Given the description of an element on the screen output the (x, y) to click on. 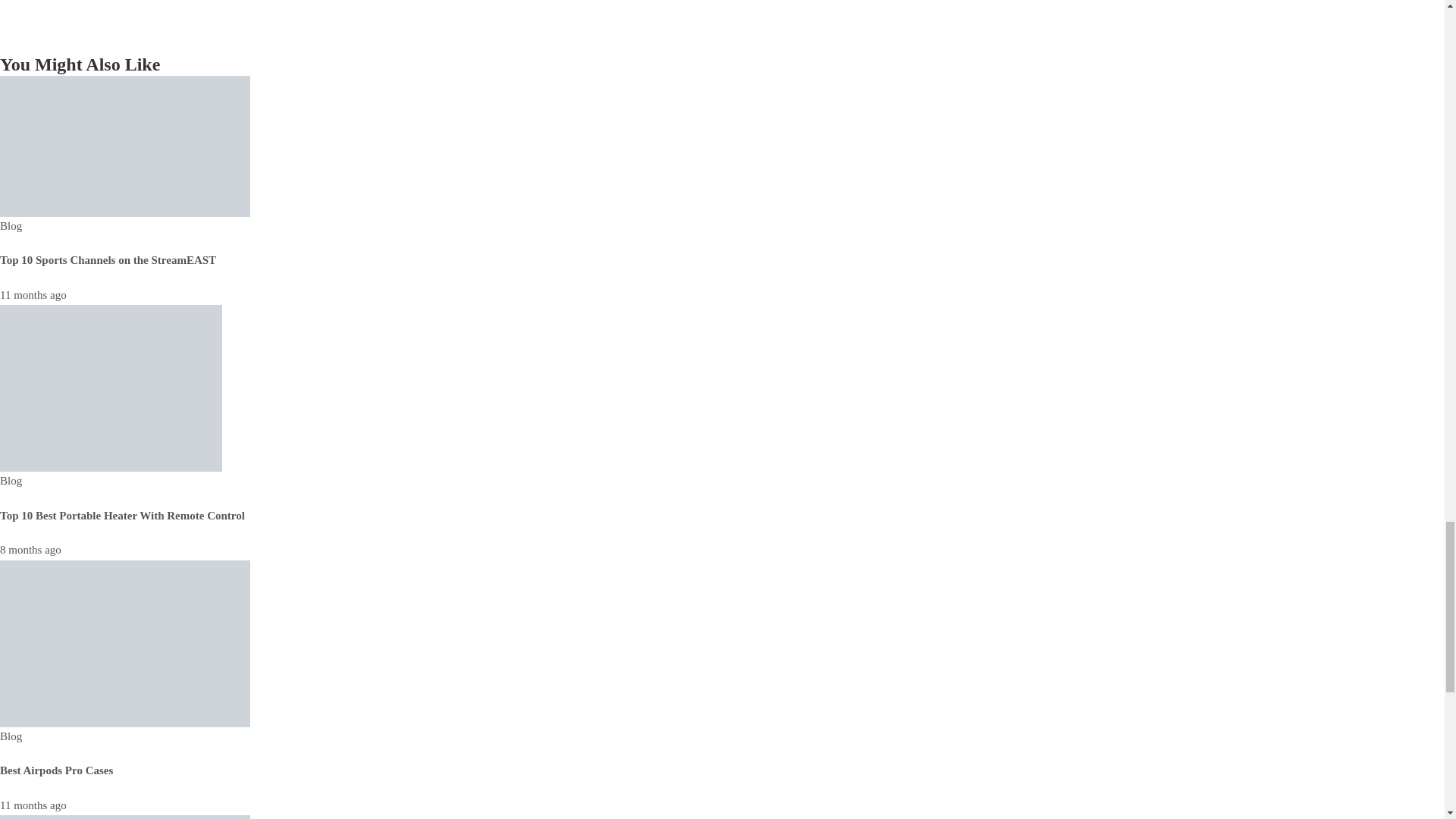
Best Airpods Pro Cases (125, 642)
Top 10 Sports Channels on the StreamEAST (125, 144)
Top 10 Best Portable Heater With Remote Control (111, 387)
